Given the description of an element on the screen output the (x, y) to click on. 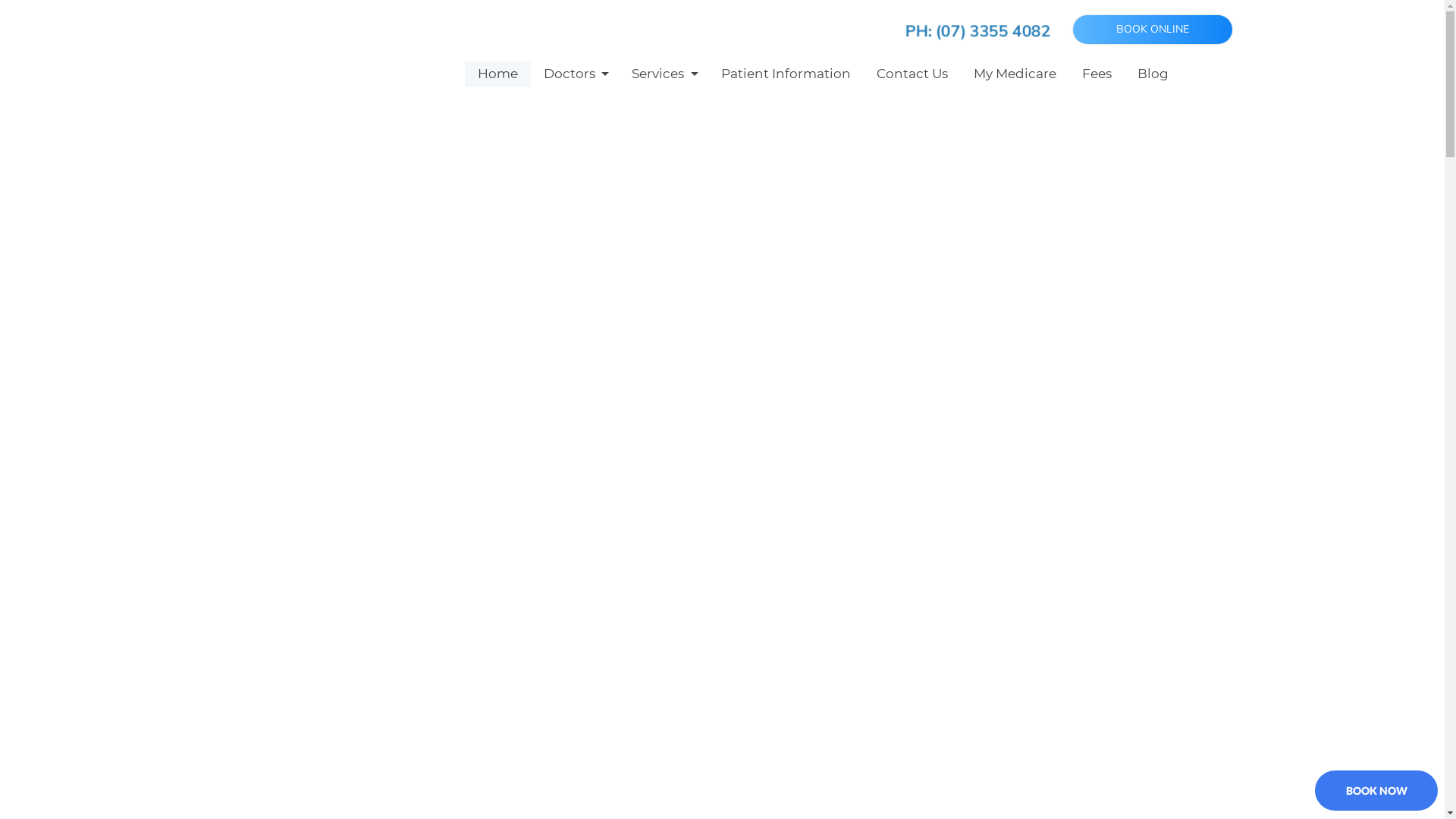
Fees Element type: text (1096, 74)
Contact Us Element type: text (911, 74)
Services Element type: text (662, 74)
My Medicare Element type: text (1014, 74)
Blog Element type: text (1152, 74)
Home Element type: text (497, 74)
BOOK NOW Element type: text (1375, 790)
BOOK ONLINE Element type: text (1152, 29)
Patient Information Element type: text (785, 74)
Doctors Element type: text (574, 74)
